Given the description of an element on the screen output the (x, y) to click on. 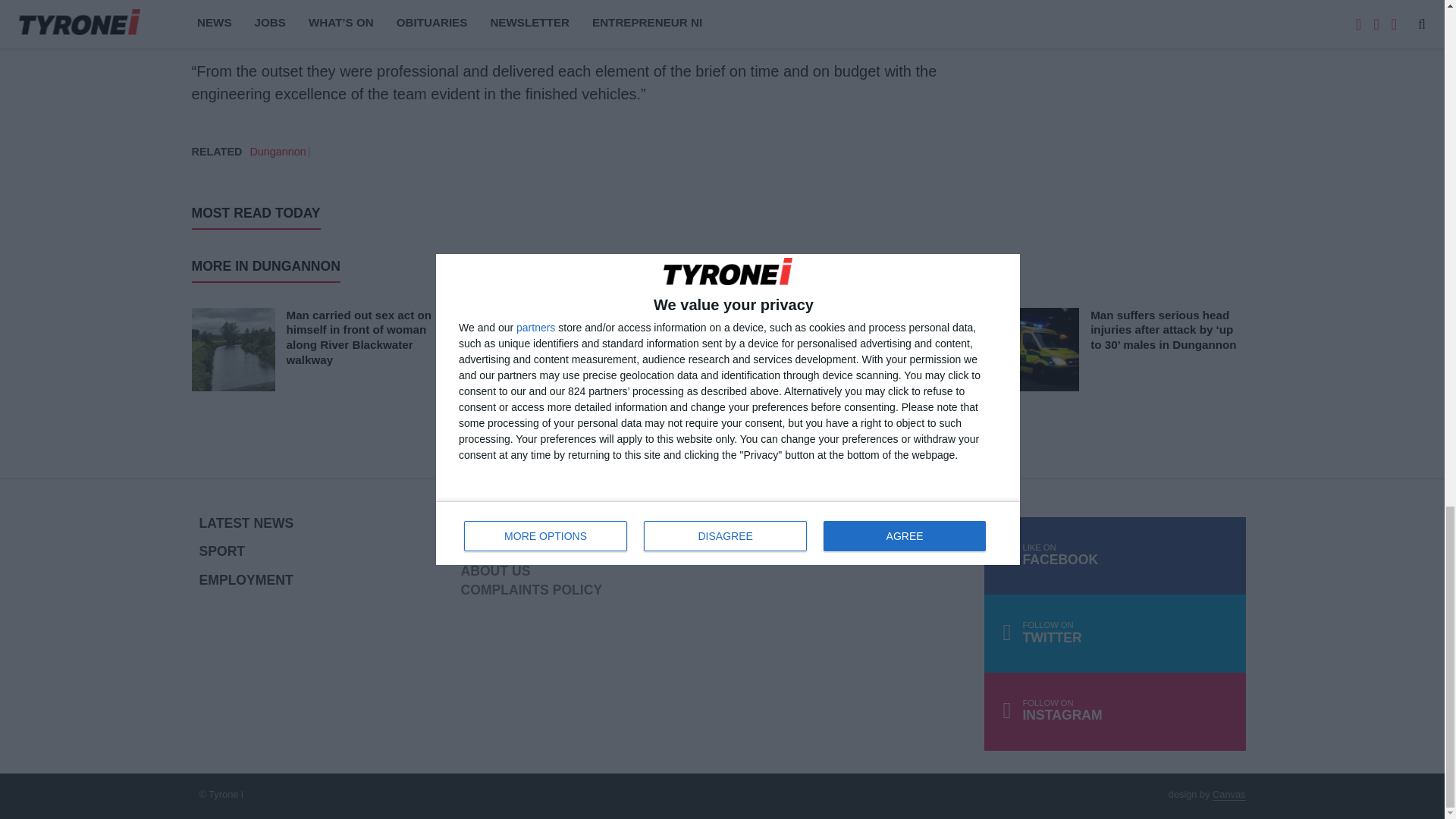
Facebook (1115, 555)
Instagram (1115, 711)
Twitter (1115, 633)
